Given the description of an element on the screen output the (x, y) to click on. 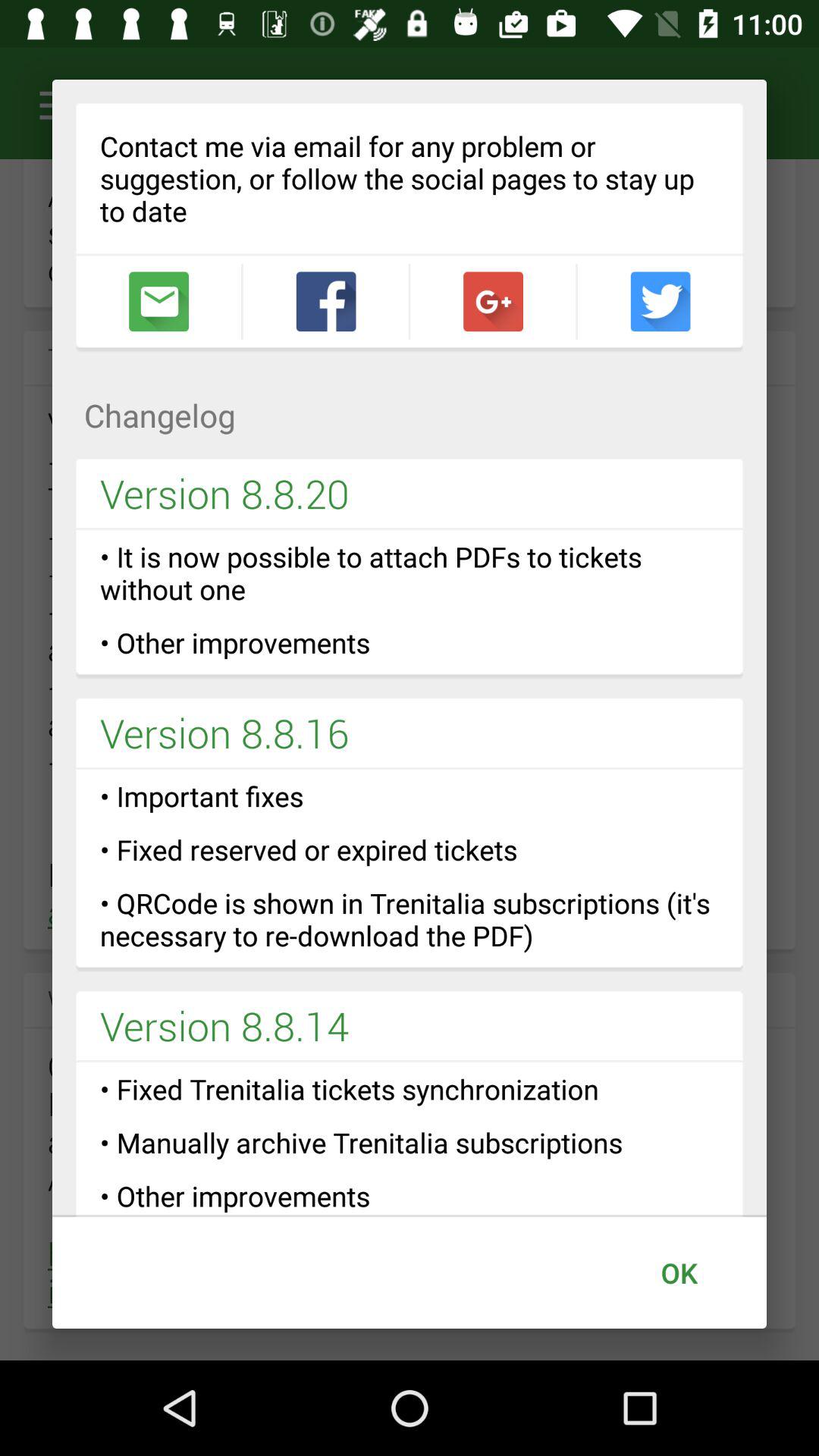
choose icon at the bottom right corner (678, 1272)
